Given the description of an element on the screen output the (x, y) to click on. 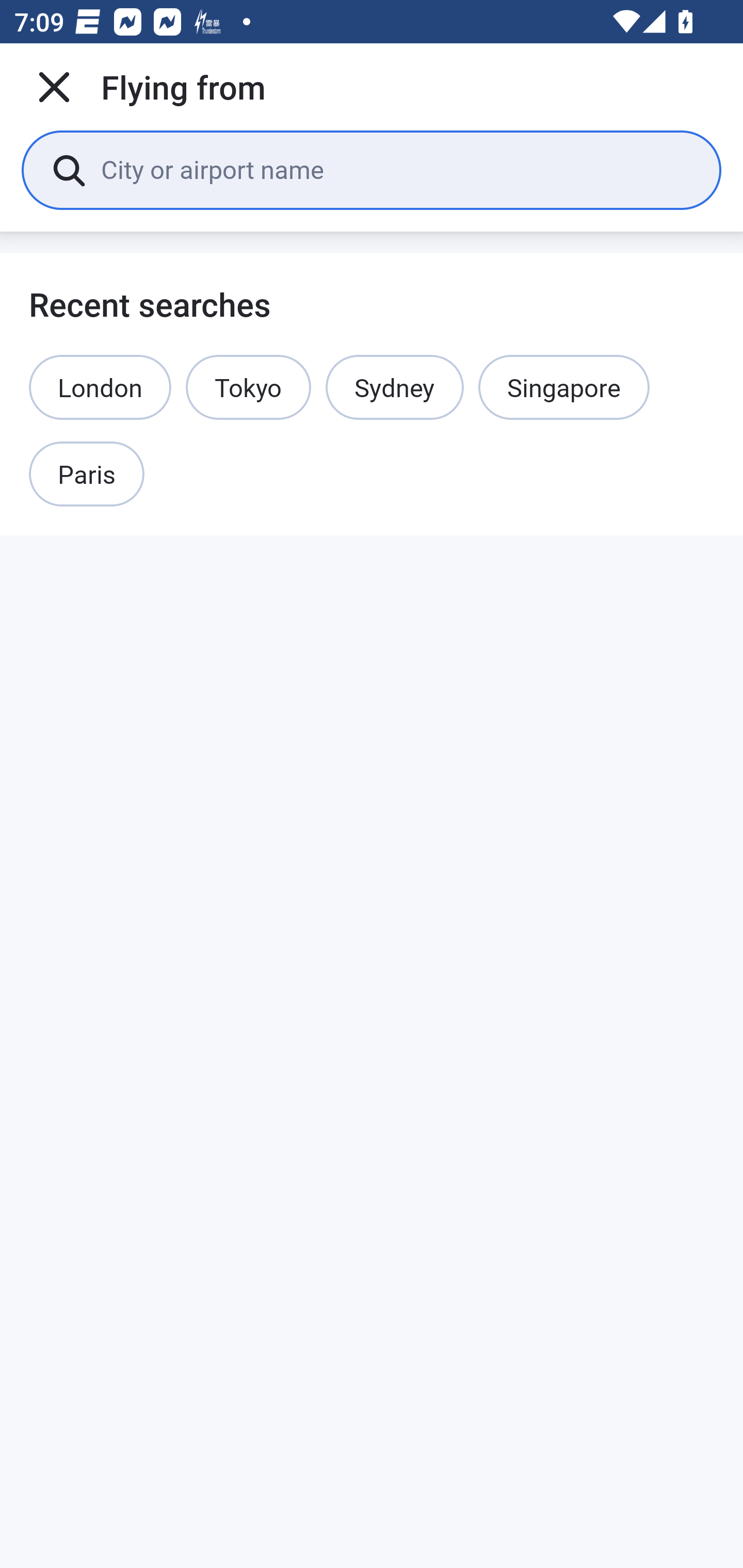
City or airport name (396, 169)
London (99, 387)
Tokyo (248, 387)
Sydney (394, 387)
Singapore (563, 387)
Paris (86, 474)
